Given the description of an element on the screen output the (x, y) to click on. 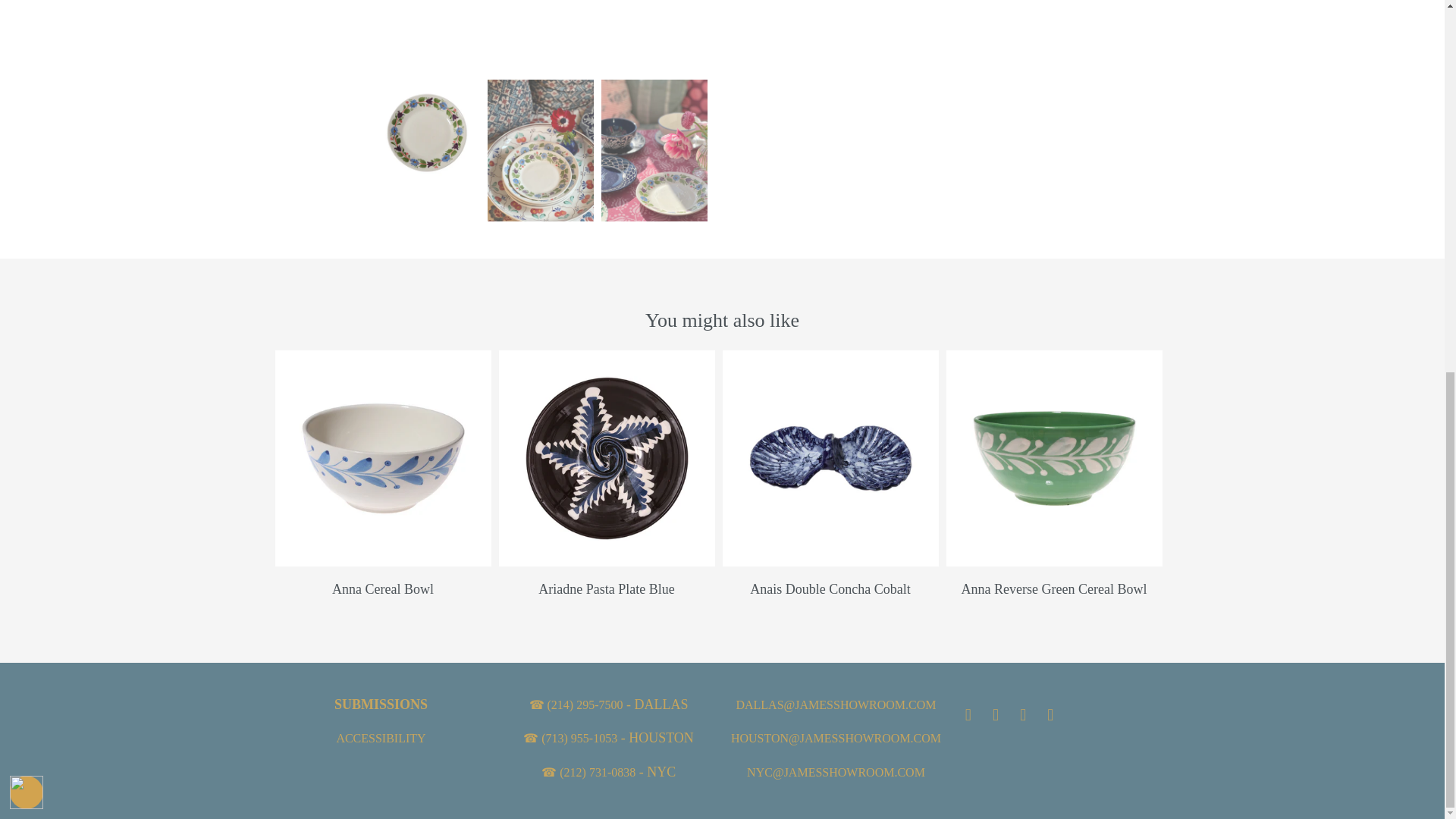
Accessibility Menu (26, 111)
